Given the description of an element on the screen output the (x, y) to click on. 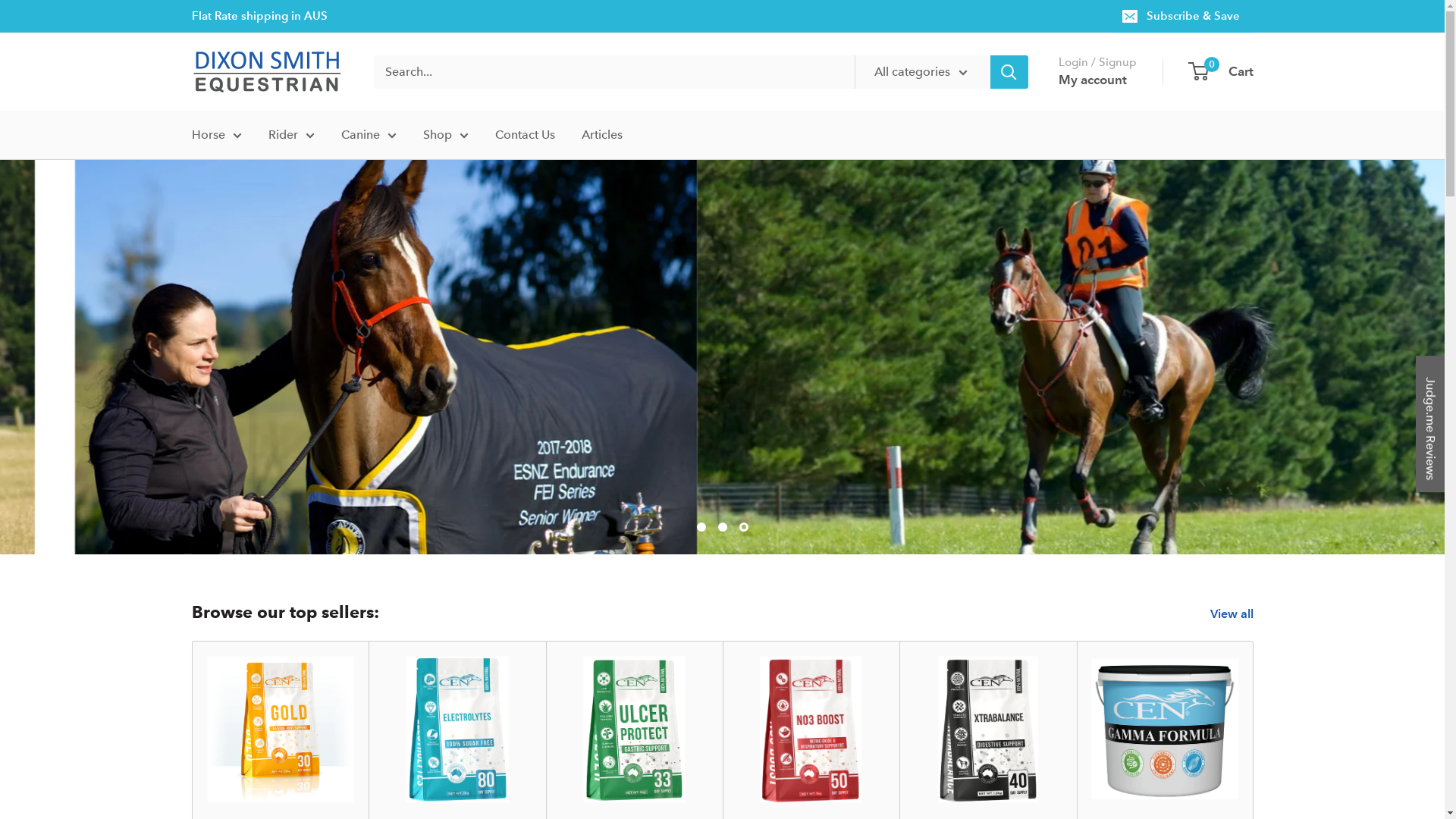
Rider Element type: text (291, 134)
Canine Element type: text (368, 134)
Contact Us Element type: text (524, 134)
View all Element type: text (1241, 613)
Horse Element type: text (216, 134)
Articles Element type: text (600, 134)
Shop Element type: text (445, 134)
Subscribe & Save Element type: text (1181, 15)
0
Cart Element type: text (1220, 71)
Dixon Smith Equestrian Element type: text (266, 71)
My account Element type: text (1092, 80)
